Given the description of an element on the screen output the (x, y) to click on. 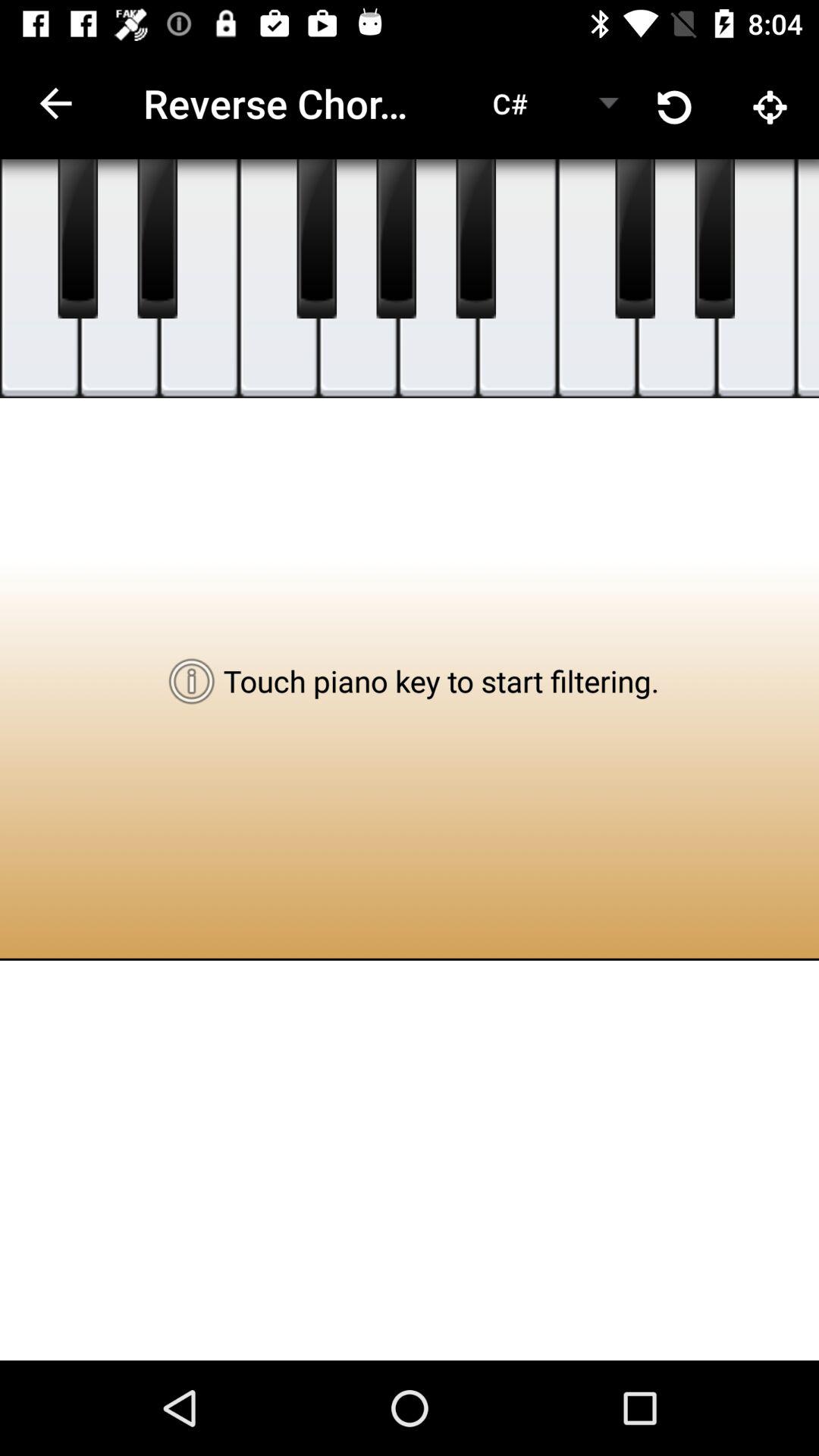
open the item above touch piano key (517, 278)
